Given the description of an element on the screen output the (x, y) to click on. 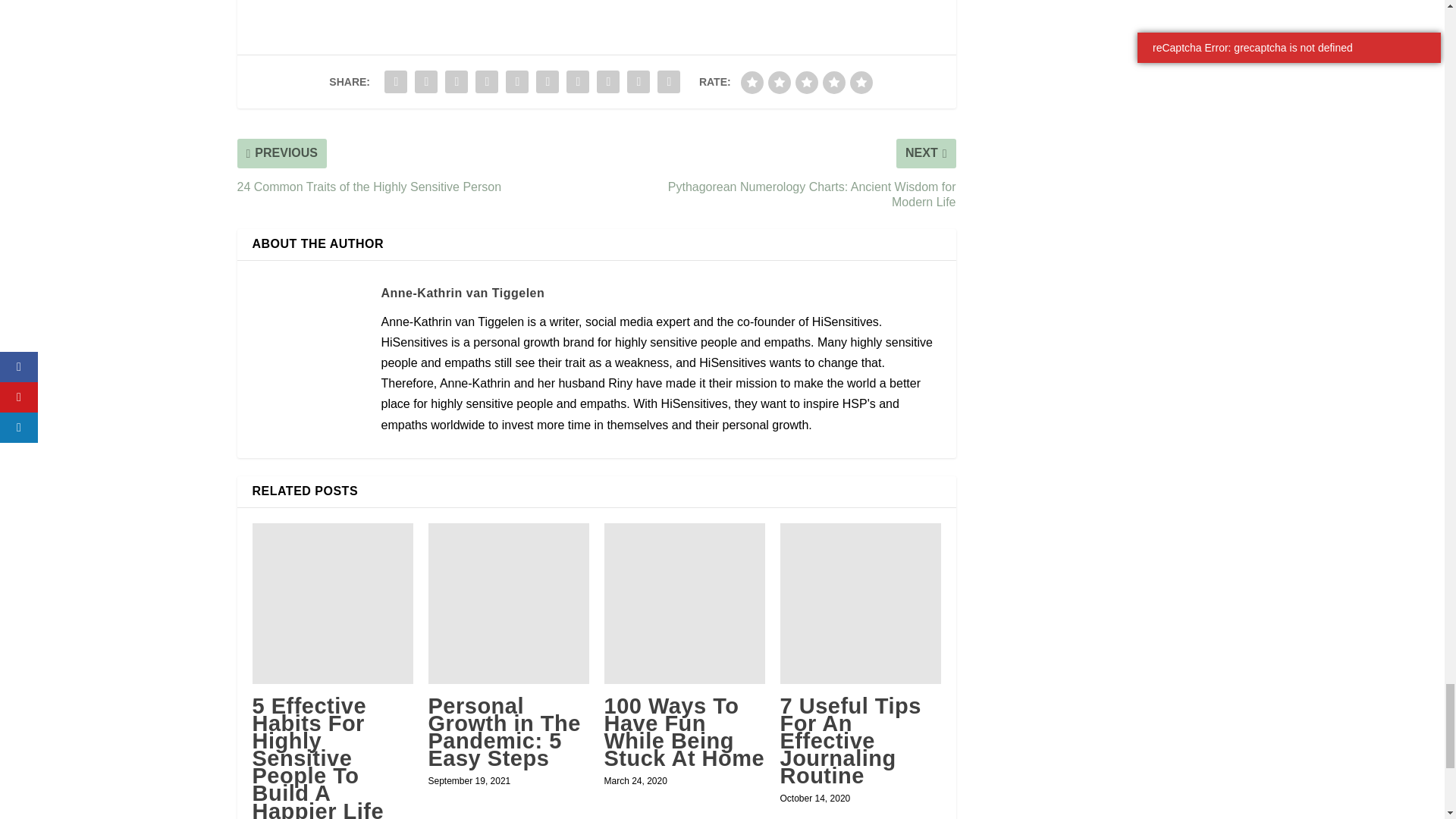
poor (779, 82)
bad (751, 82)
